Given the description of an element on the screen output the (x, y) to click on. 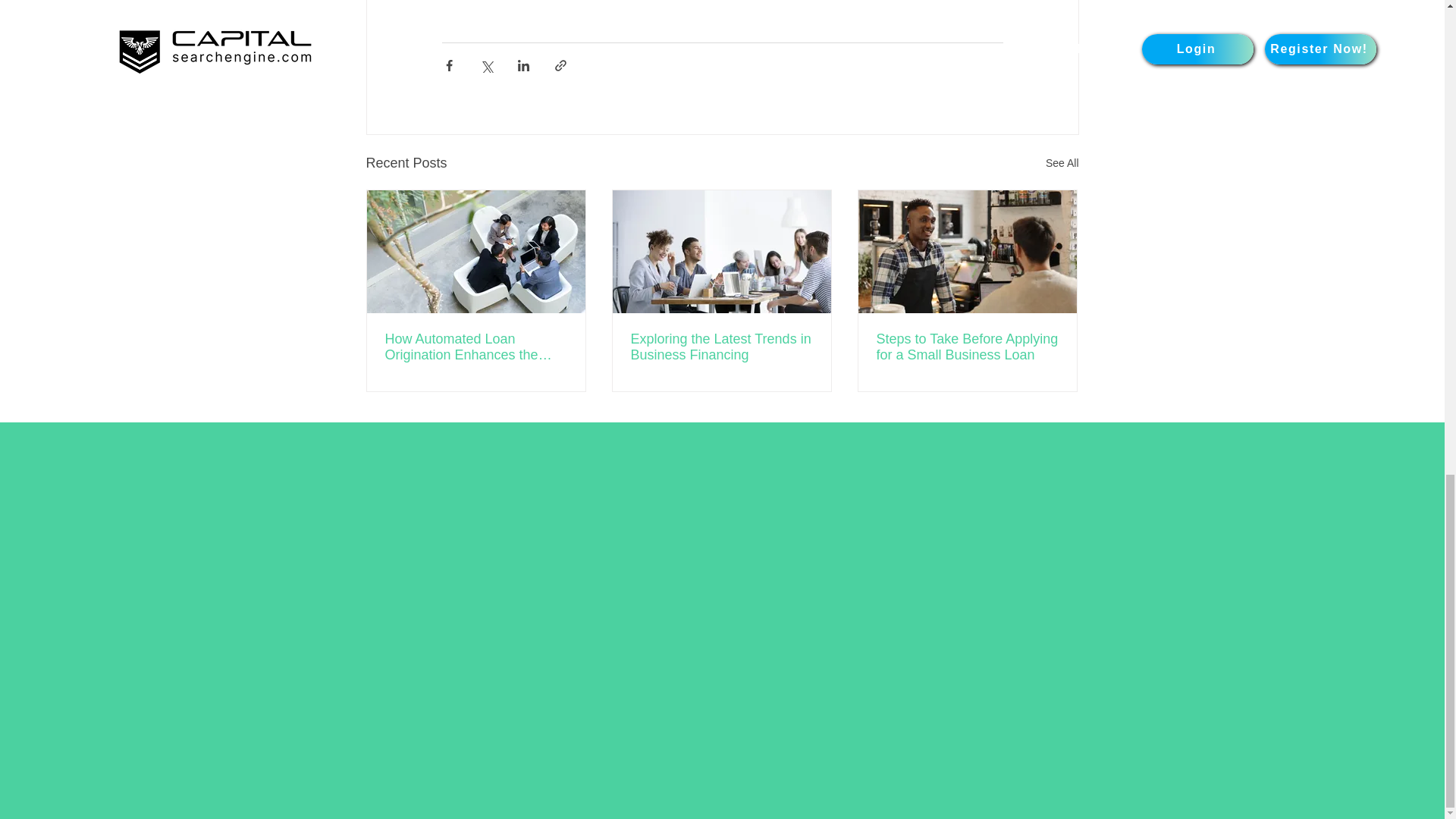
See All (1061, 163)
Exploring the Latest Trends in Business Financing (721, 347)
Steps to Take Before Applying for a Small Business Loan (967, 347)
